Given the description of an element on the screen output the (x, y) to click on. 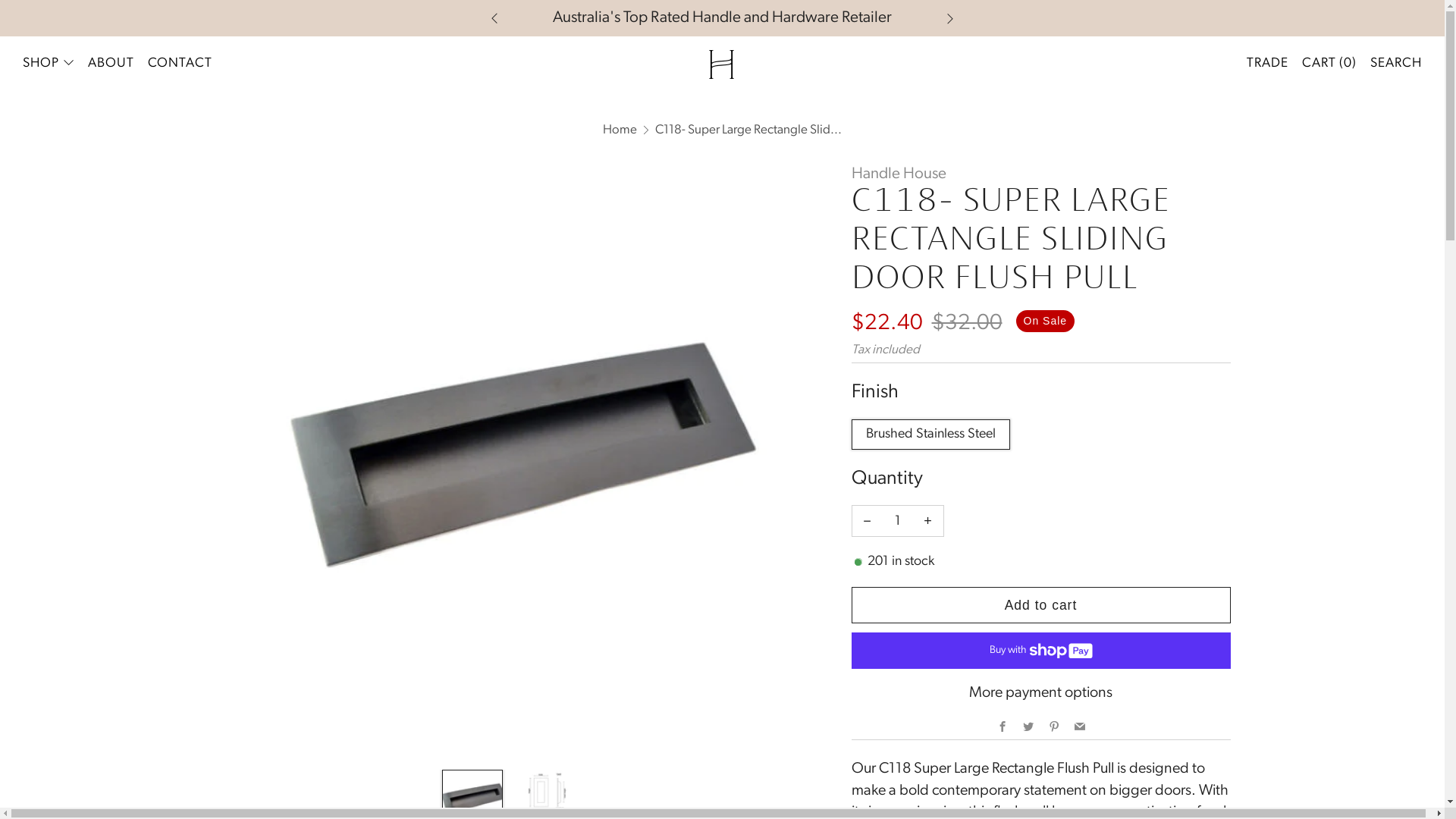
Twitter Element type: text (1027, 728)
Home Element type: text (619, 128)
SEARCH Element type: text (1395, 63)
CART (0) Element type: text (1329, 63)
Add to cart Element type: text (1040, 604)
Pinterest Element type: text (1053, 728)
Handle House Element type: text (897, 174)
Facebook Element type: text (1001, 728)
SHOP Element type: text (48, 63)
+
Increase item quantity by one Element type: text (928, 520)
TRADE Element type: text (1267, 63)
More payment options Element type: text (1040, 693)
CONTACT Element type: text (179, 63)
Email Element type: text (1078, 728)
ABOUT Element type: text (110, 63)
